Given the description of an element on the screen output the (x, y) to click on. 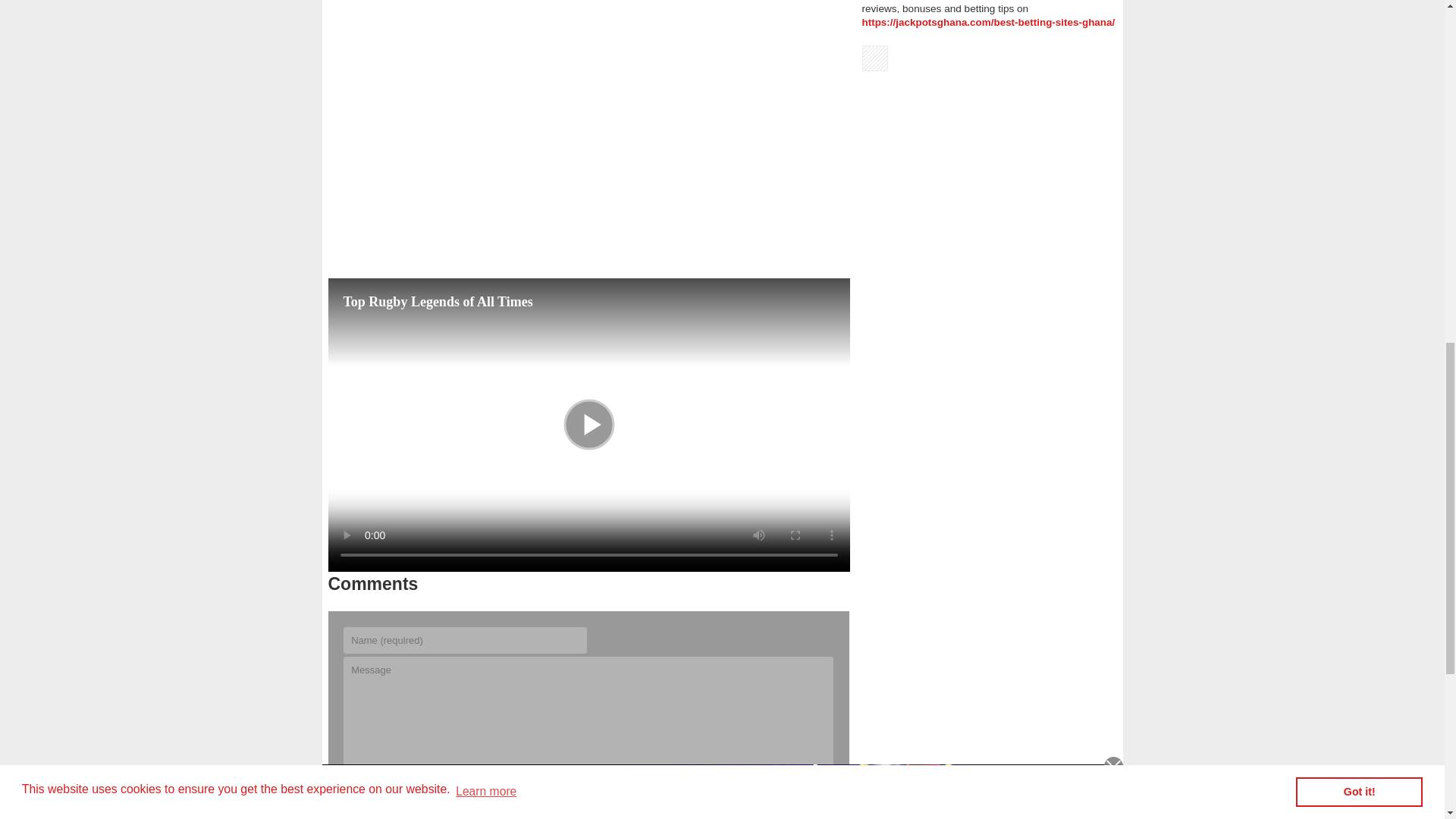
Submit Comment (785, 800)
